Given the description of an element on the screen output the (x, y) to click on. 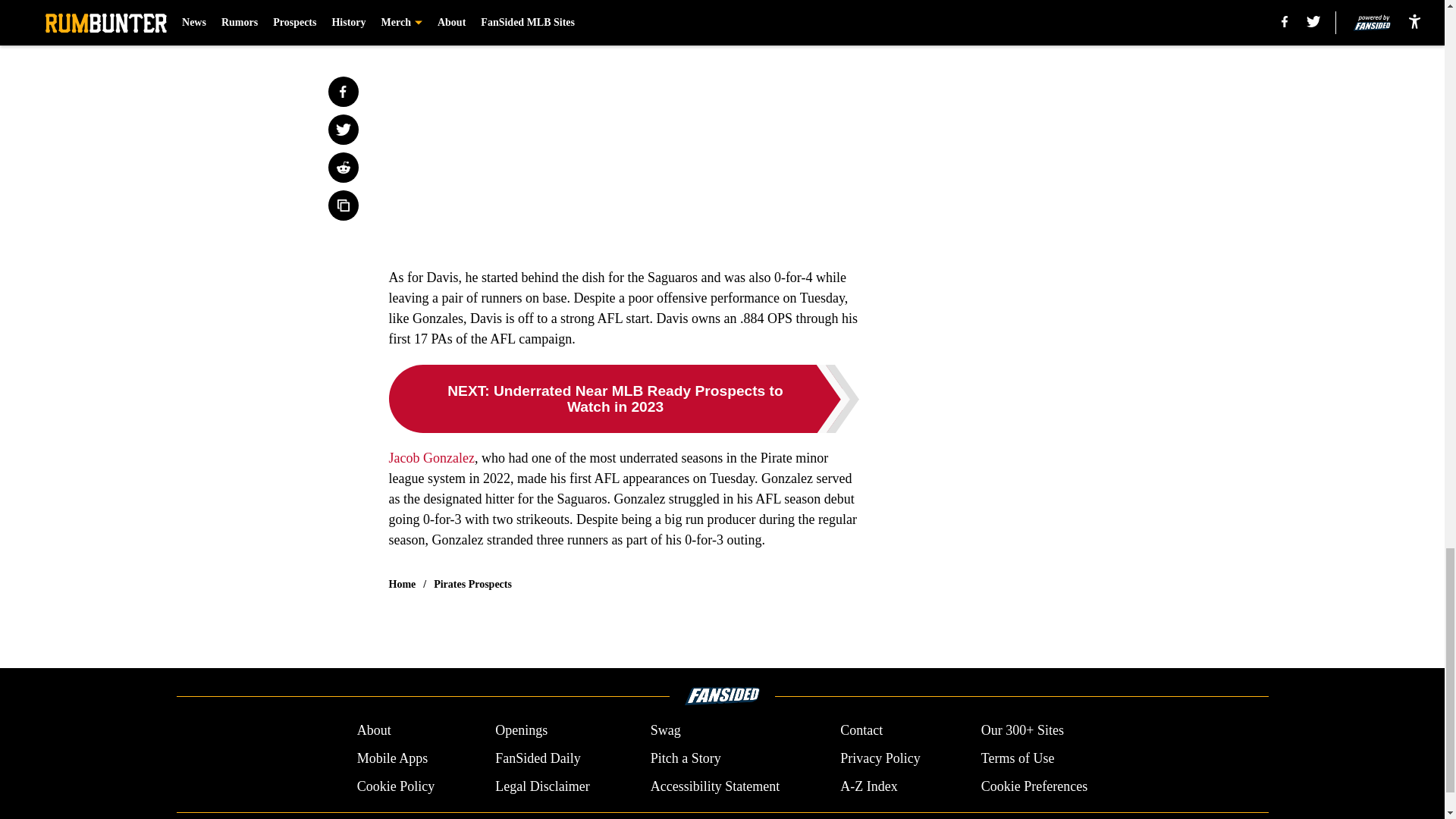
Mobile Apps (392, 758)
Pitch a Story (685, 758)
Privacy Policy (880, 758)
Jacob Gonzalez (431, 458)
Home (401, 584)
About (373, 730)
Terms of Use (1017, 758)
Contact (861, 730)
Swag (665, 730)
Pirates Prospects (472, 584)
